Given the description of an element on the screen output the (x, y) to click on. 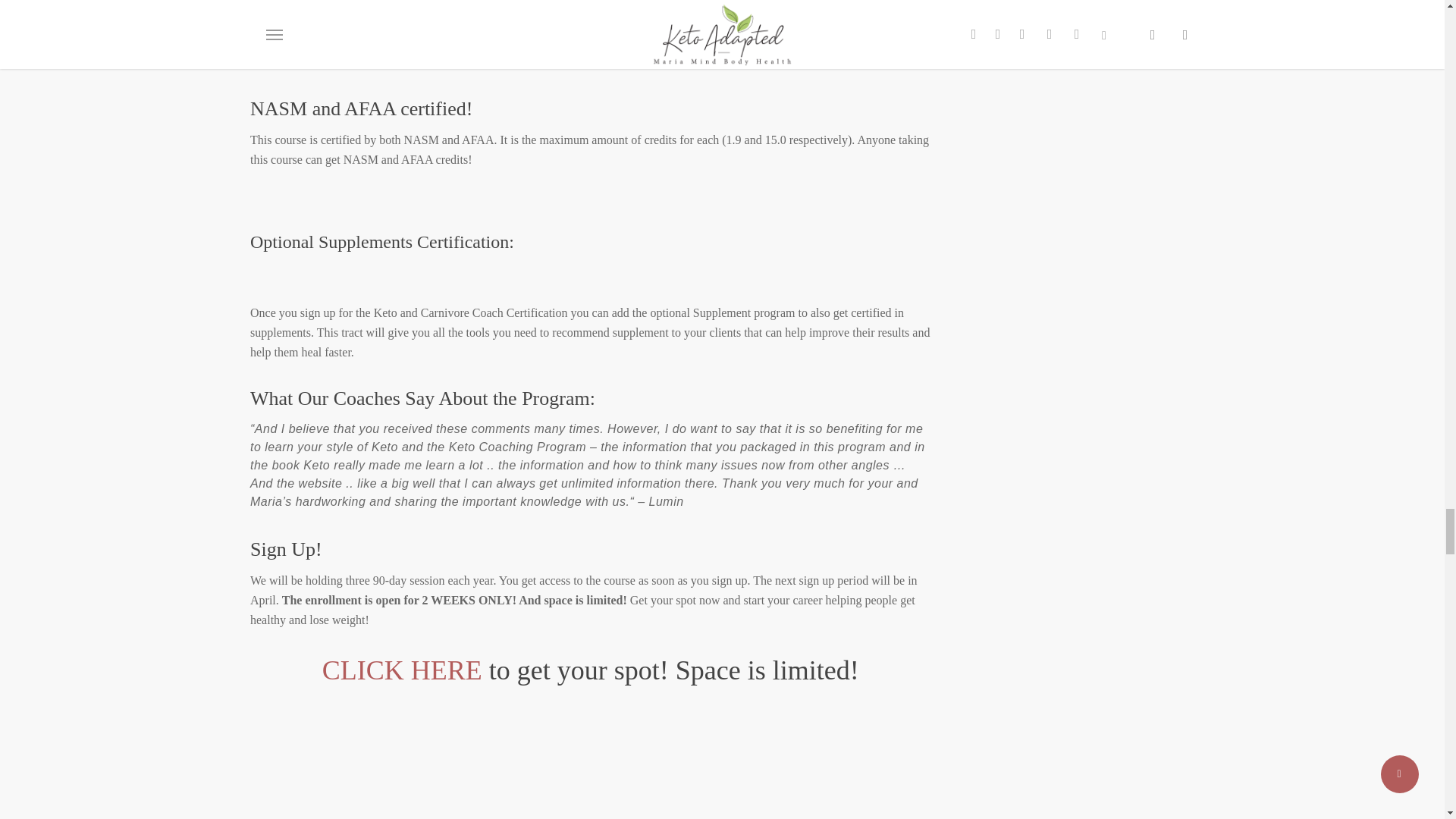
CLICK HERE (401, 670)
